Given the description of an element on the screen output the (x, y) to click on. 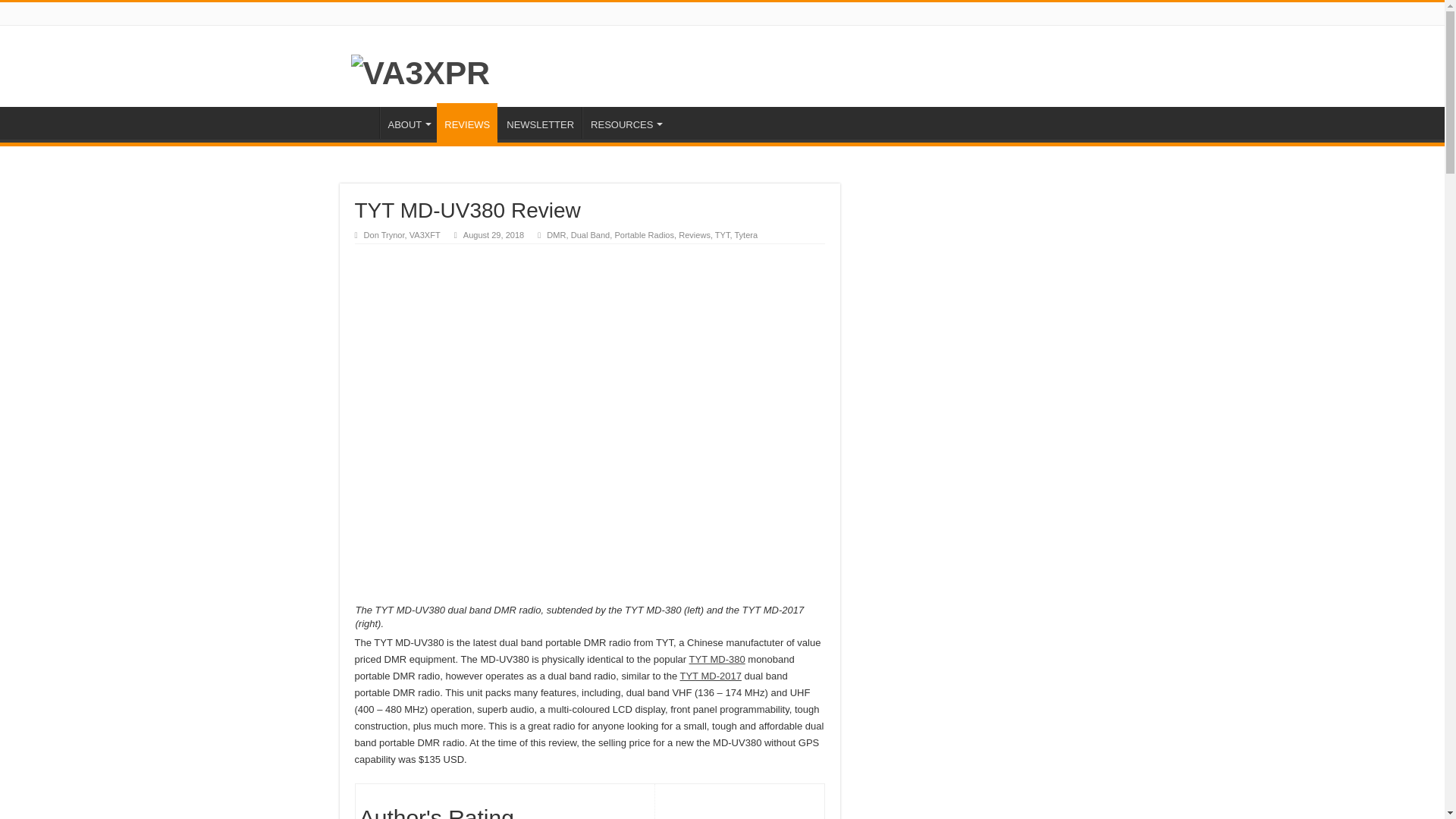
DMR (556, 234)
TYT MD-2017 (710, 675)
4 out of 5 stars (689, 805)
Tytera (745, 234)
TYT MD-380 (716, 659)
ABOUT (407, 122)
VA3XPR (419, 70)
Don Trynor, VA3XFT (402, 234)
Portable Radios (644, 234)
REVIEWS (466, 122)
